Given the description of an element on the screen output the (x, y) to click on. 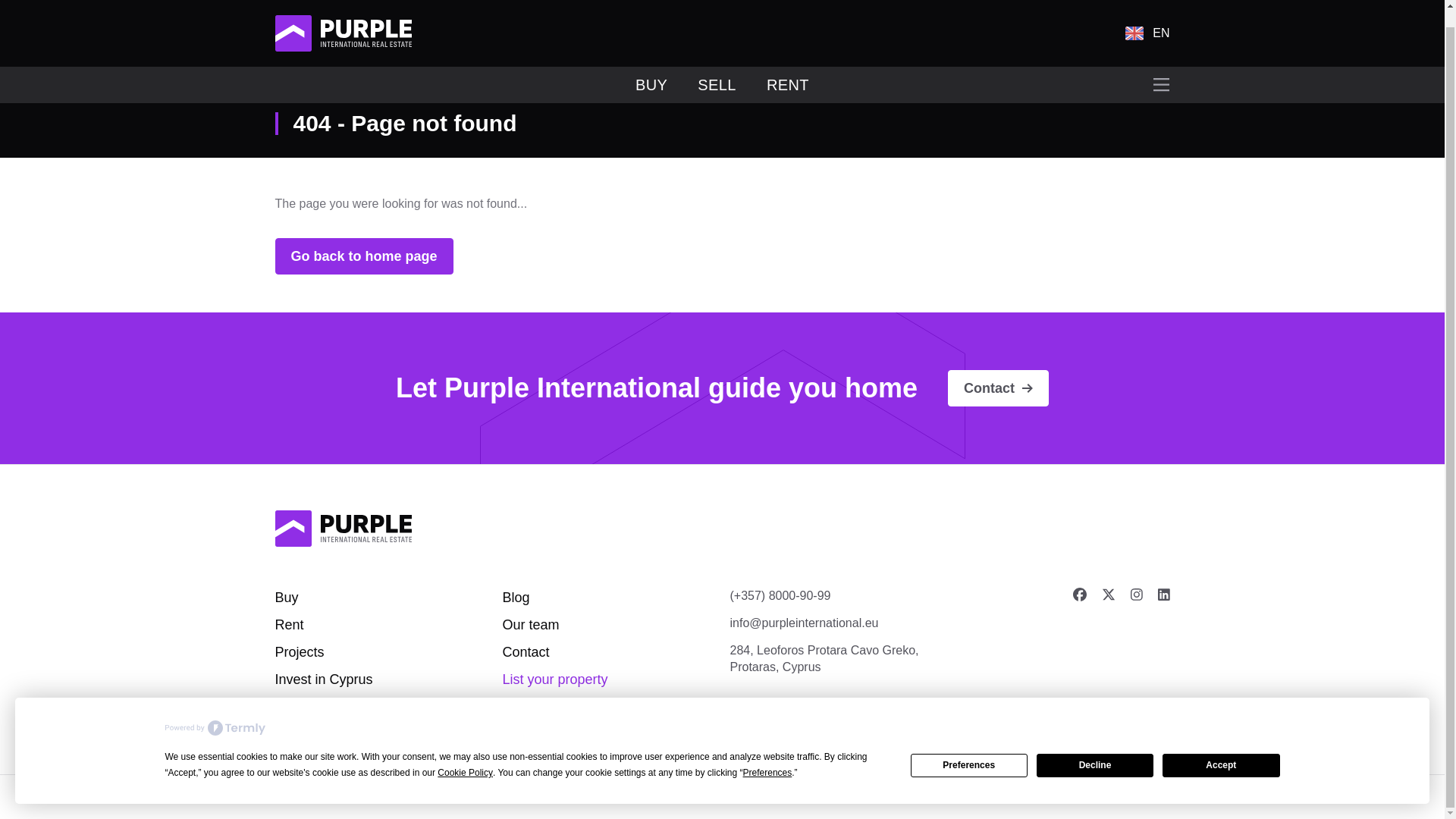
Consent Preferences (697, 796)
EN (1147, 16)
Decline (1094, 748)
Contact (525, 652)
Rent (288, 624)
Invest in Cyprus (323, 679)
Our team (530, 624)
Preferences (767, 756)
Privacy Policy (582, 796)
Projects (299, 652)
Preferences (969, 748)
RENT (788, 67)
Contact (997, 388)
Buy (286, 597)
List your property (554, 679)
